Given the description of an element on the screen output the (x, y) to click on. 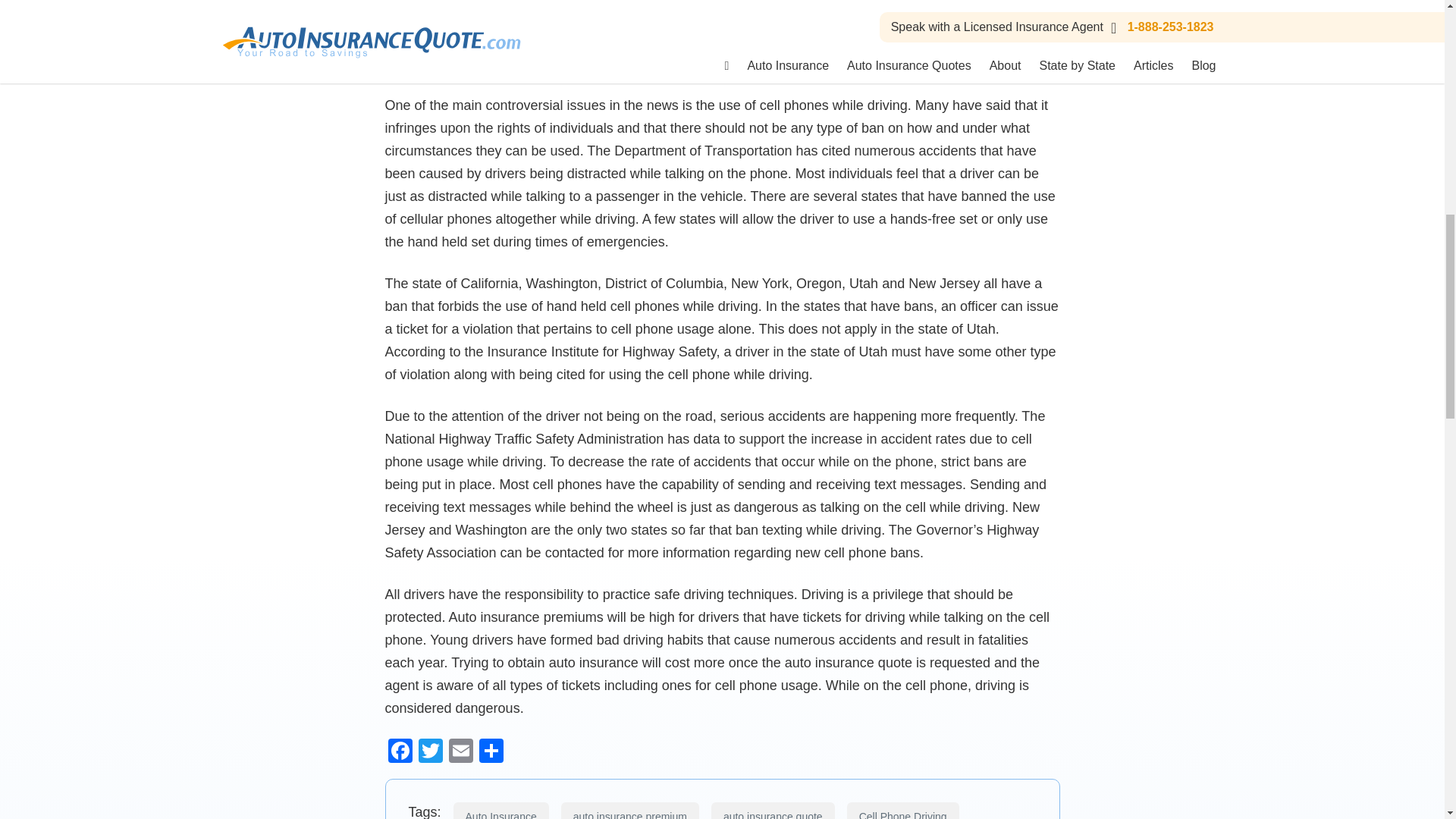
Email (460, 752)
Facebook (399, 752)
Email (460, 752)
Share (491, 752)
Twitter (429, 752)
auto insurance quote (772, 810)
Twitter (429, 752)
Auto Insurance (500, 810)
auto insurance premium (629, 810)
Facebook (399, 752)
Cell Phone Driving (903, 810)
